Given the description of an element on the screen output the (x, y) to click on. 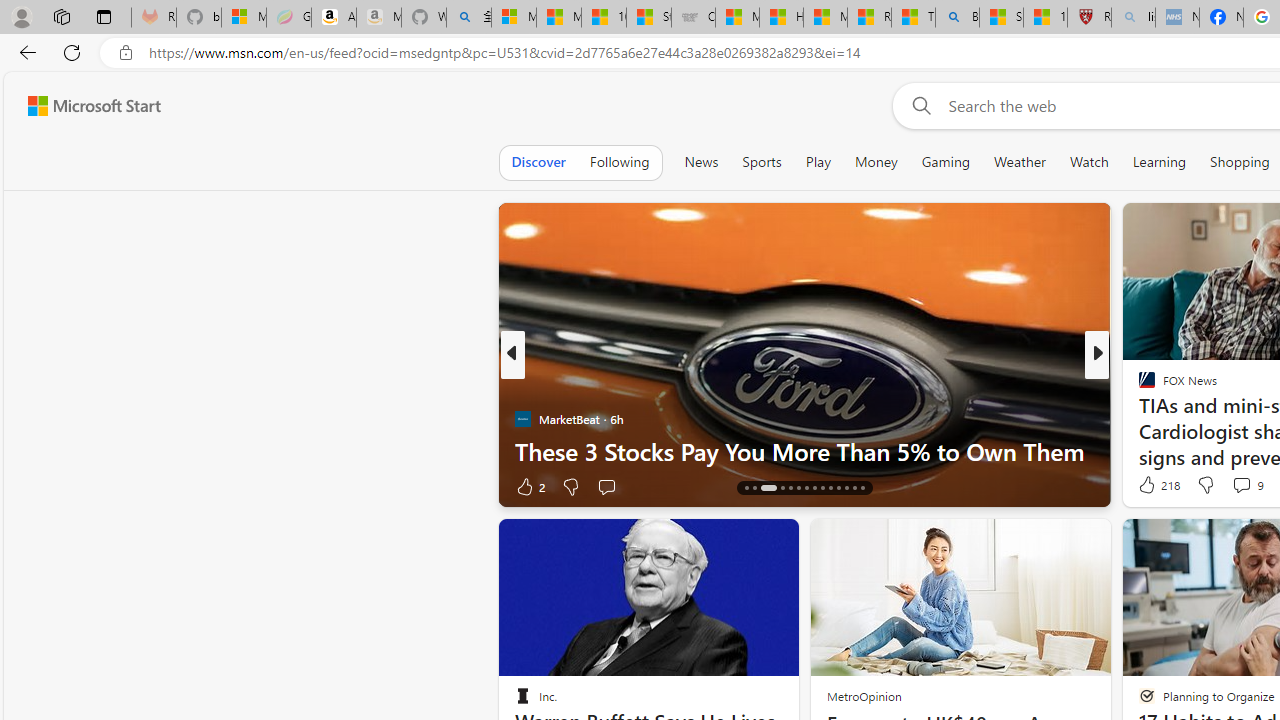
Learning (1159, 162)
AutomationID: tab-20 (797, 487)
AutomationID: tab-19 (789, 487)
View comments 9 Comment (1241, 485)
12 Popular Science Lies that Must be Corrected (1045, 17)
8 Like (1145, 486)
View comments 9 Comment (1247, 484)
These 3 Stocks Pay You More Than 5% to Own Them (804, 450)
AutomationID: tab-18 (782, 487)
